Given the description of an element on the screen output the (x, y) to click on. 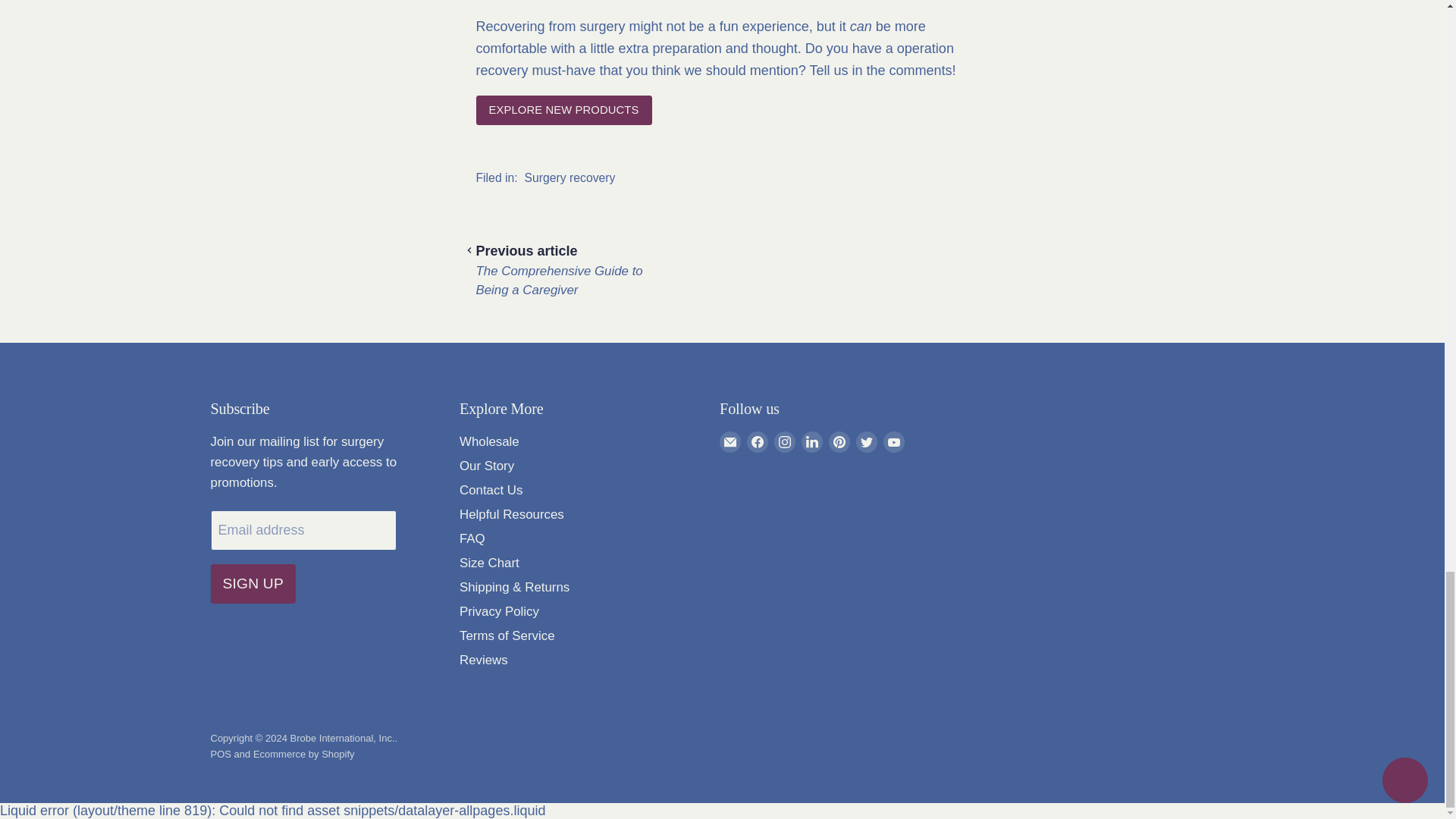
Pinterest (839, 441)
Email (730, 441)
LinkedIn (812, 441)
YouTube (893, 441)
Show articles tagged Surgery recovery (569, 177)
Twitter (866, 441)
Instagram (784, 441)
Facebook (757, 441)
